Given the description of an element on the screen output the (x, y) to click on. 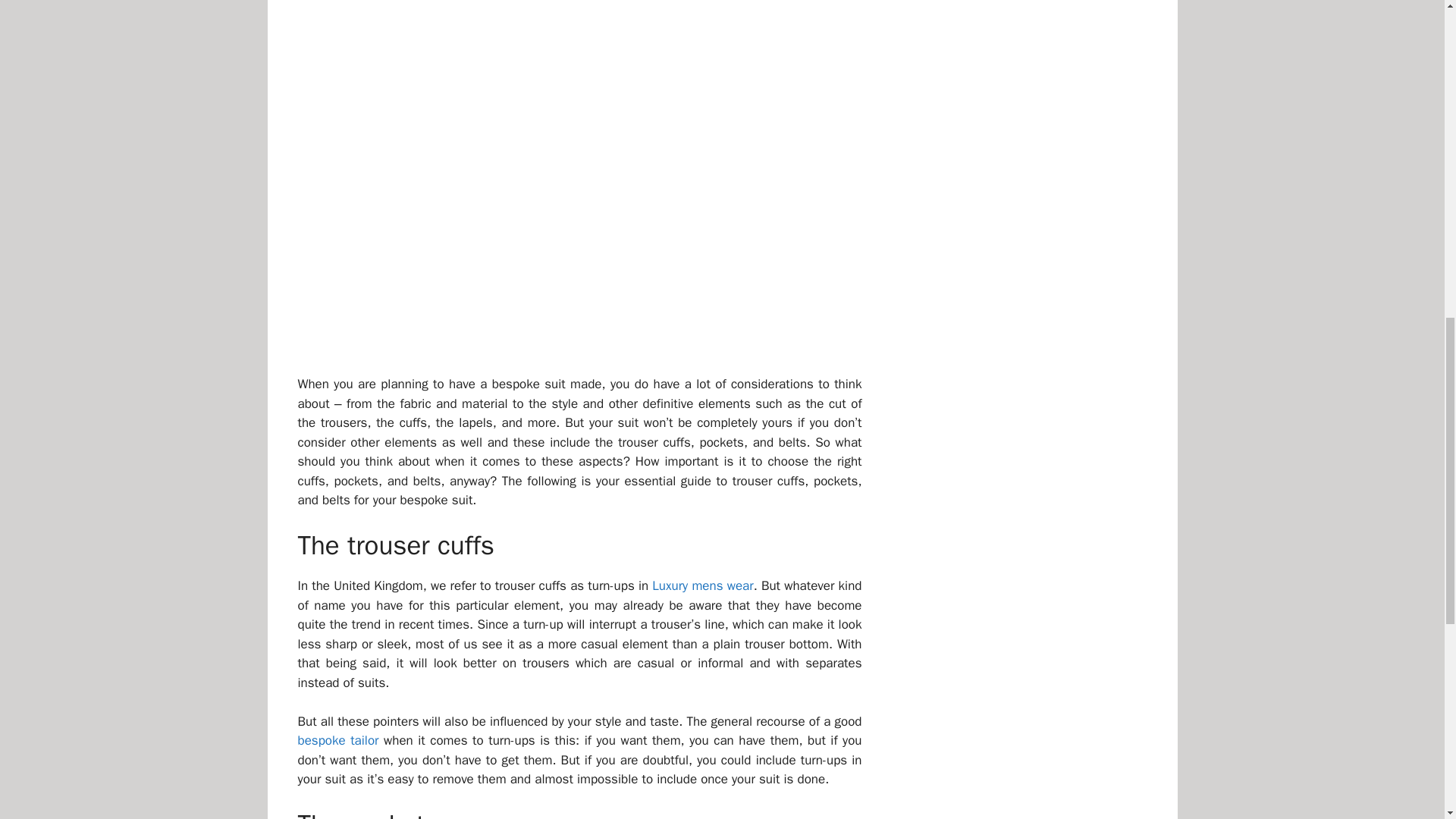
bespoke tailor (337, 740)
Luxury mens wear (702, 585)
